Given the description of an element on the screen output the (x, y) to click on. 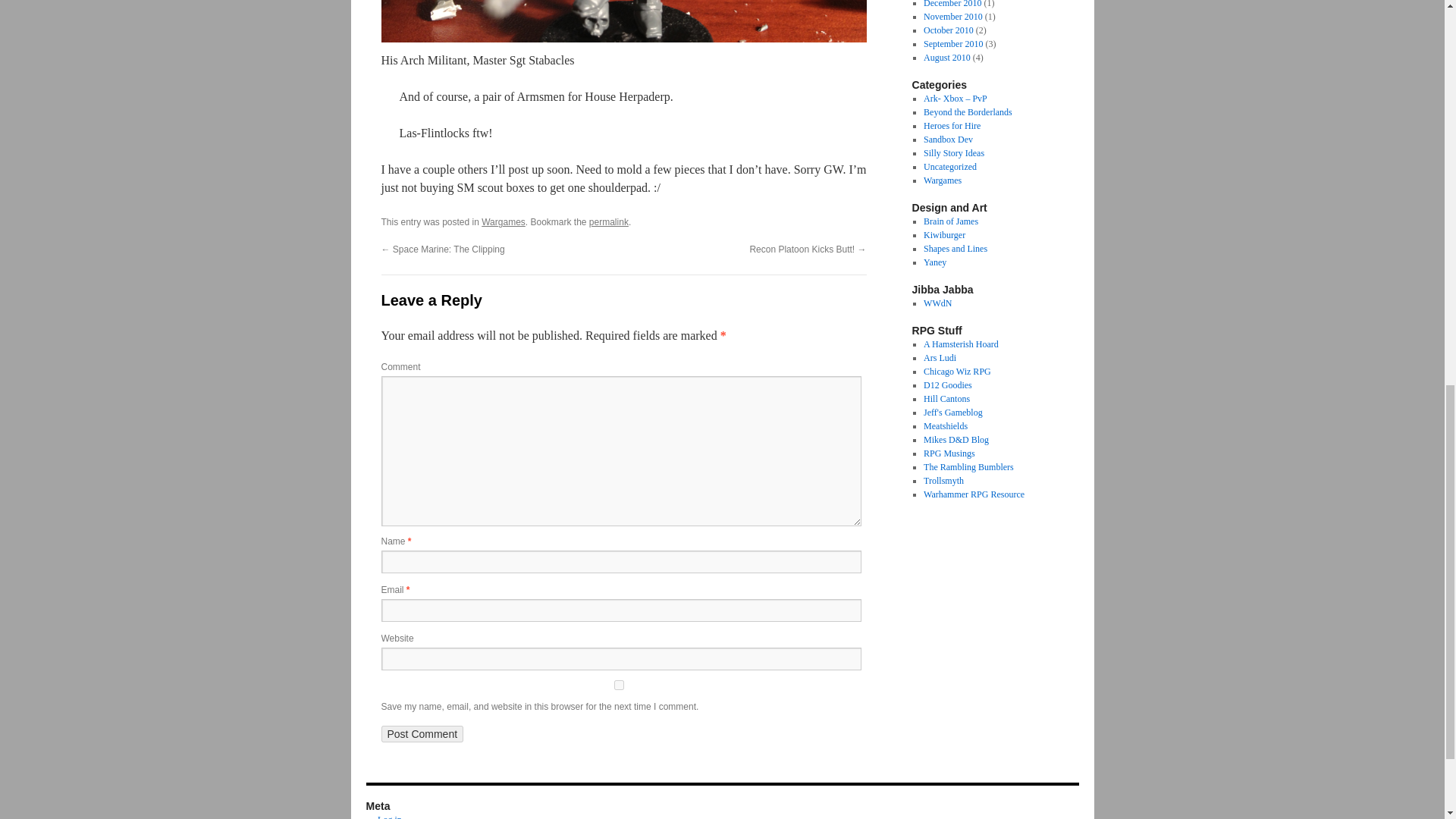
yes (618, 685)
Wargames (503, 222)
Permalink to Of Boredom and Superglue. (955, 98)
permalink (608, 222)
Portfolio and Blog for a good friend of mine. (608, 222)
Lessons and ideas about a Sandbox RPG format. (955, 248)
Post Comment (947, 139)
